Given the description of an element on the screen output the (x, y) to click on. 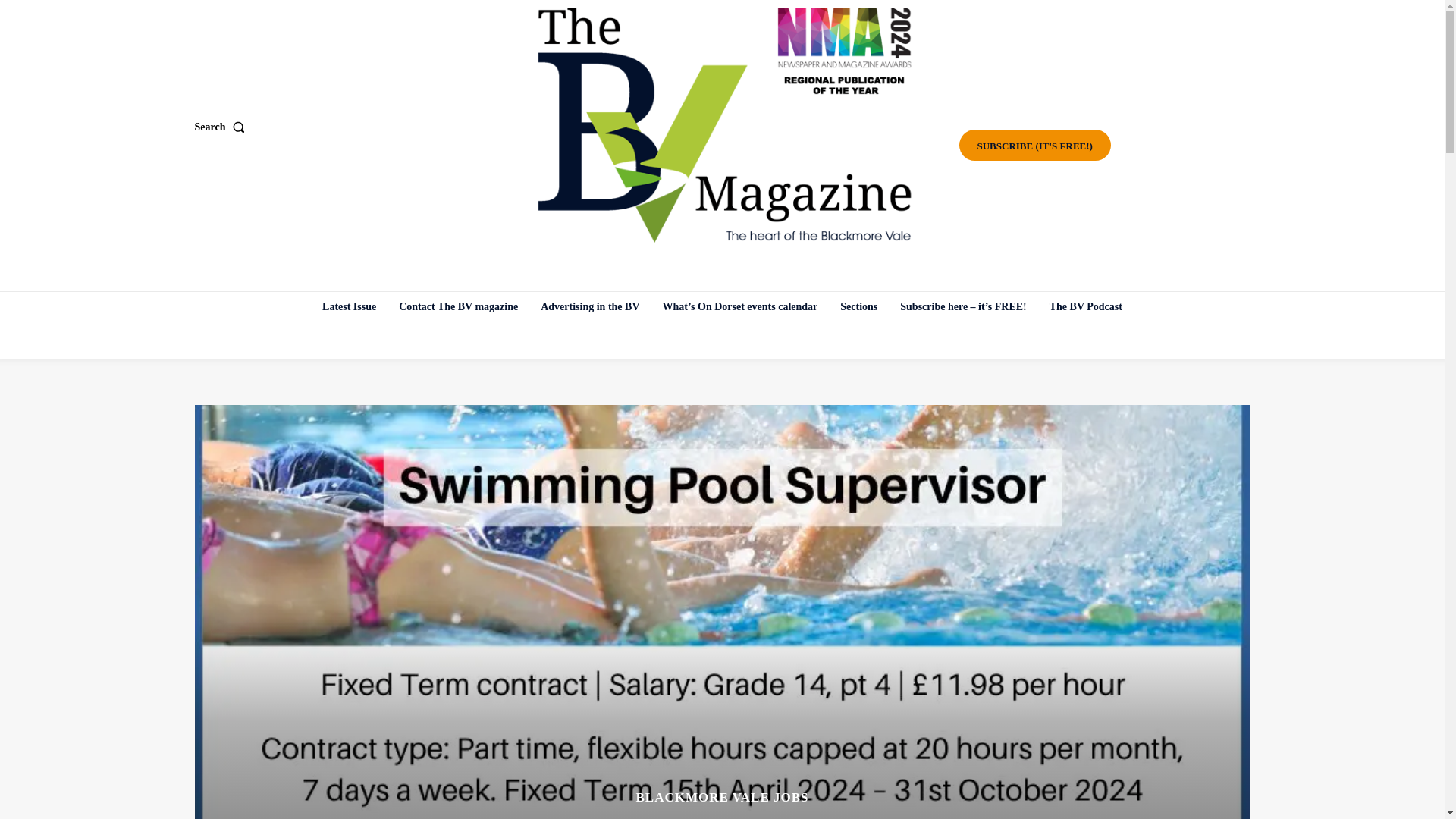
Search (221, 127)
Latest Issue (349, 306)
BV magazine from the Blackmore Vale (724, 125)
Contact The BV magazine (458, 306)
